Given the description of an element on the screen output the (x, y) to click on. 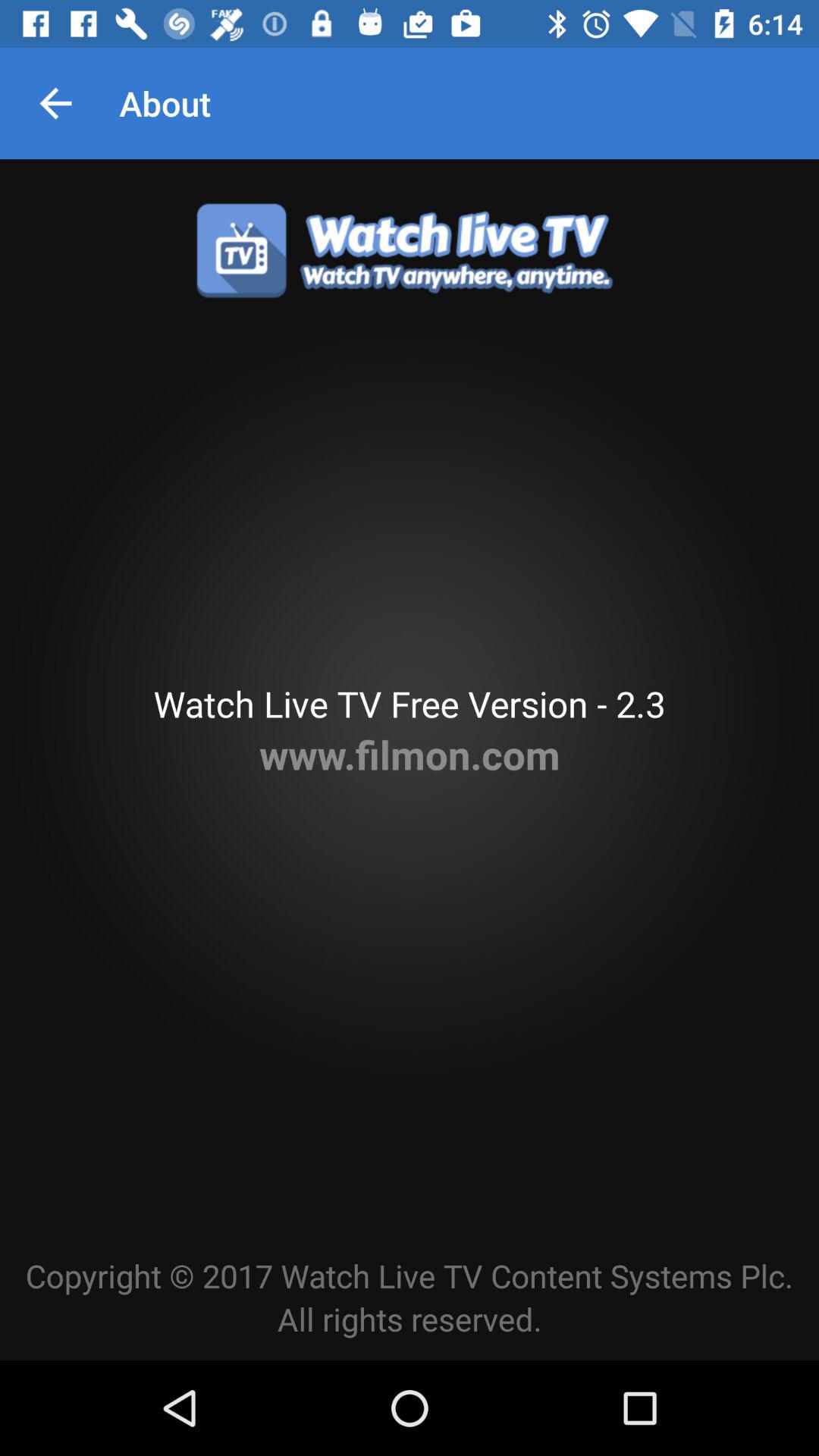
turn on the icon below watch live tv item (409, 754)
